Given the description of an element on the screen output the (x, y) to click on. 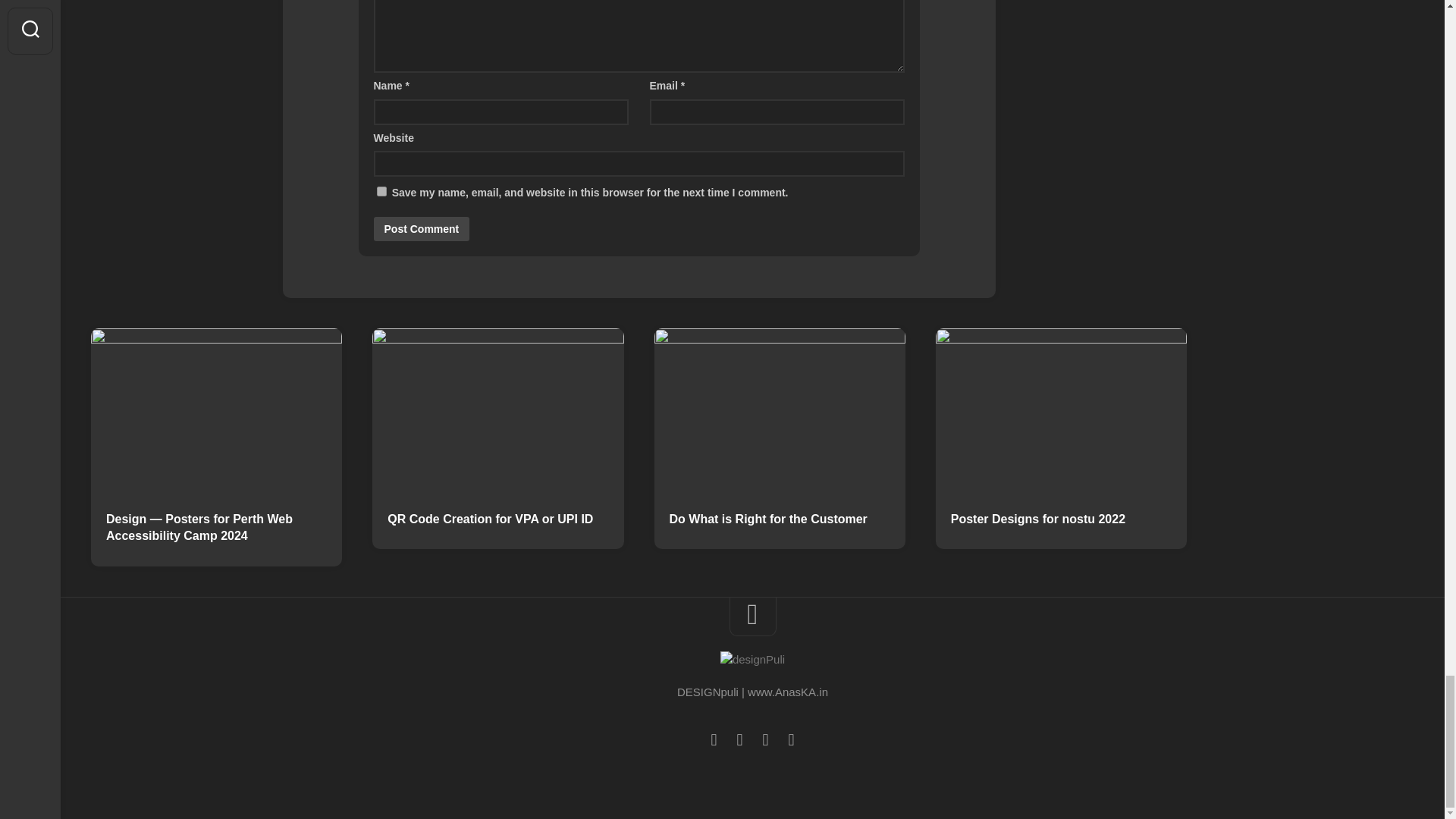
QR Code Creation for VPA or UPI ID (497, 519)
Medium (713, 740)
Linkedin (739, 740)
yes (380, 191)
Poster Designs for nostu 2022 (1061, 519)
Do What is Right for the Customer (778, 519)
Post Comment (420, 228)
Post Comment (420, 228)
Instagram (791, 740)
